Given the description of an element on the screen output the (x, y) to click on. 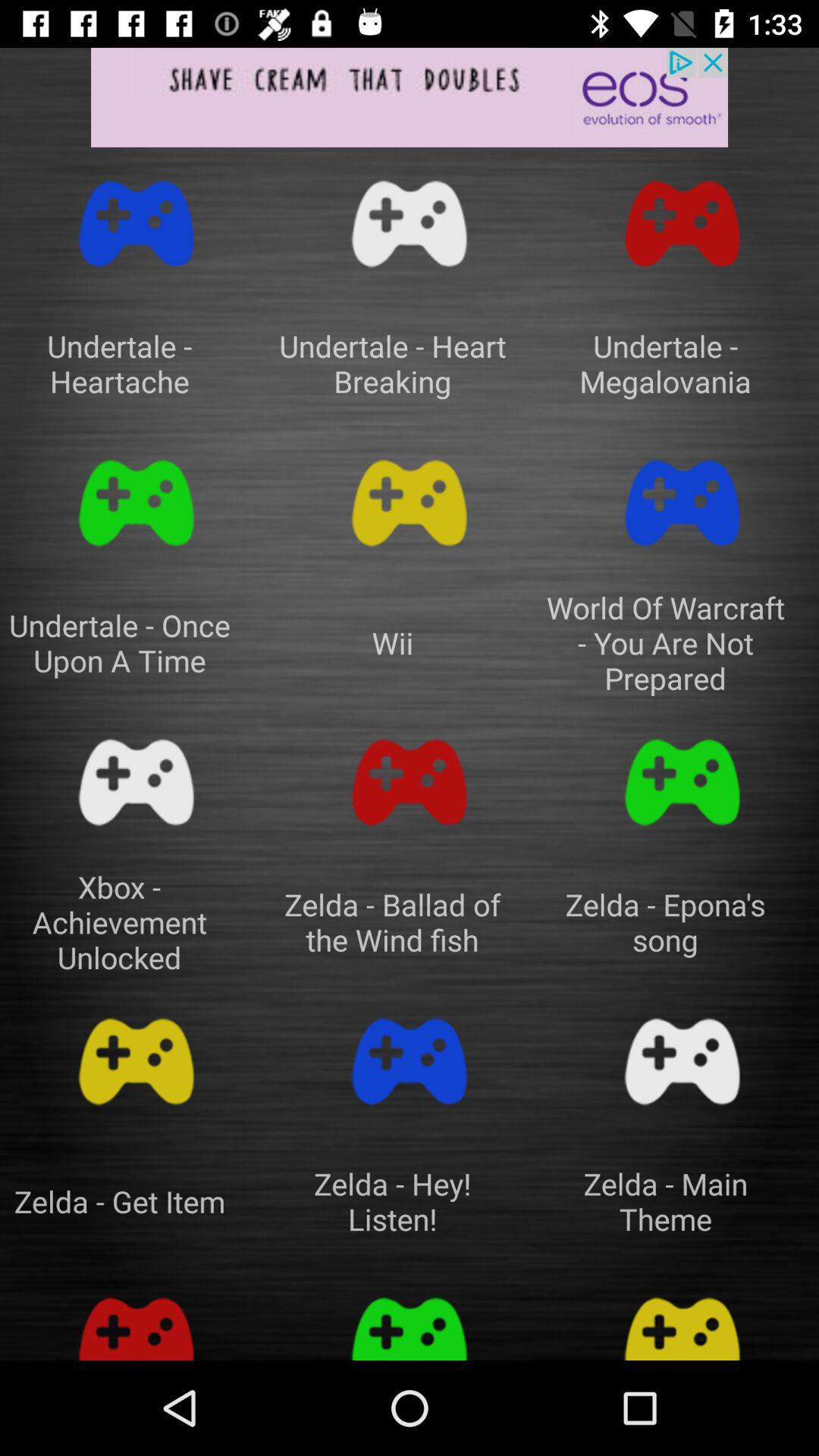
select icon (136, 223)
